Given the description of an element on the screen output the (x, y) to click on. 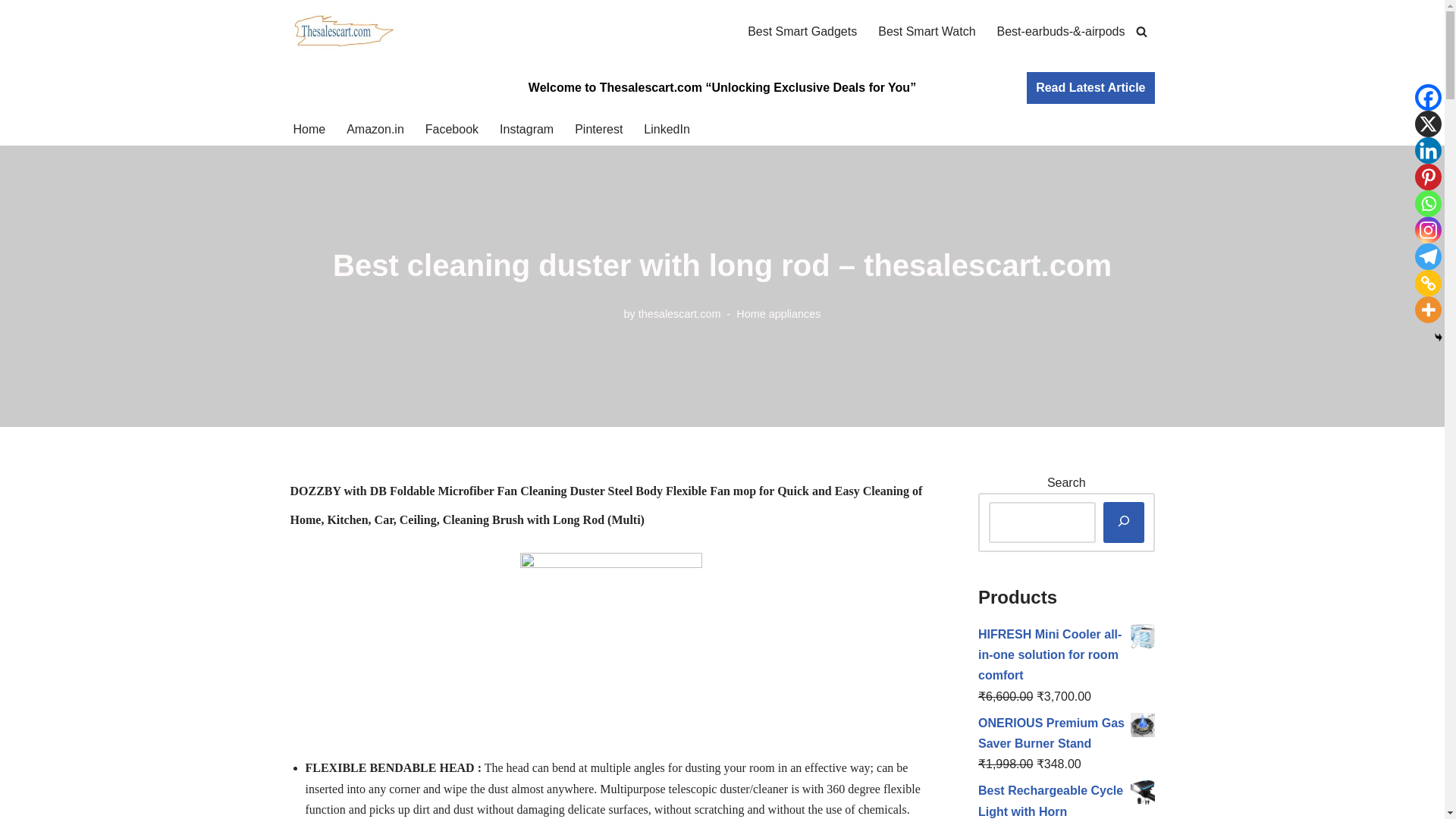
thesalescart.com (679, 313)
Whatsapp (1428, 203)
Posts by thesalescart.com (679, 313)
Facebook (452, 128)
Amazon.in (375, 128)
Copy Link (1428, 283)
Facebook (1428, 97)
Telegram (1428, 256)
Home (308, 128)
Best Smart Watch (926, 31)
Pinterest (1428, 176)
Read Latest Article (1090, 88)
X (1428, 123)
Pinterest (599, 128)
Instagram (526, 128)
